Given the description of an element on the screen output the (x, y) to click on. 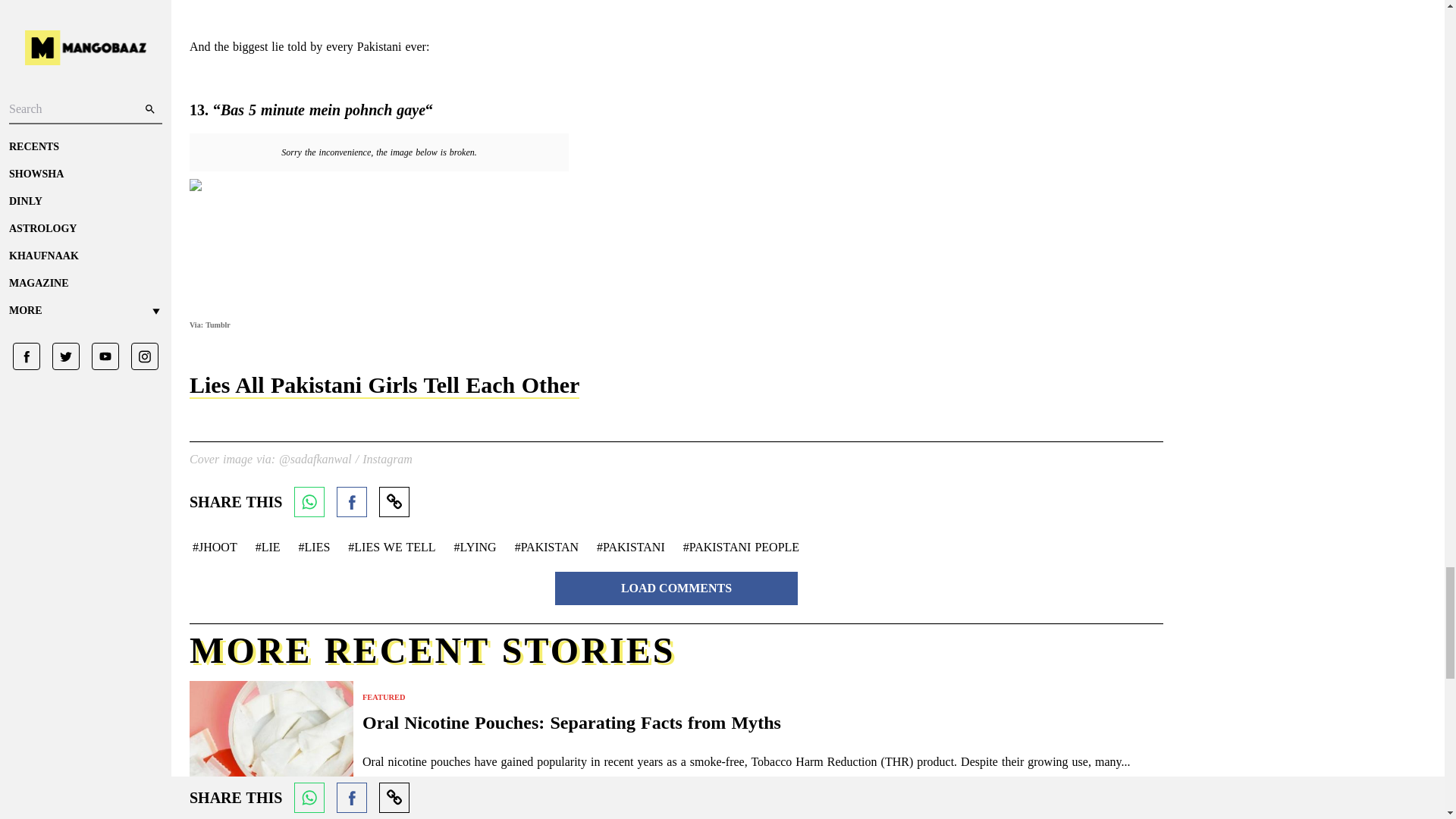
Facebook (351, 501)
Lies All Pakistani Girls Tell Each Other (384, 385)
Whatsapp (309, 501)
Copy URL (393, 501)
